Given the description of an element on the screen output the (x, y) to click on. 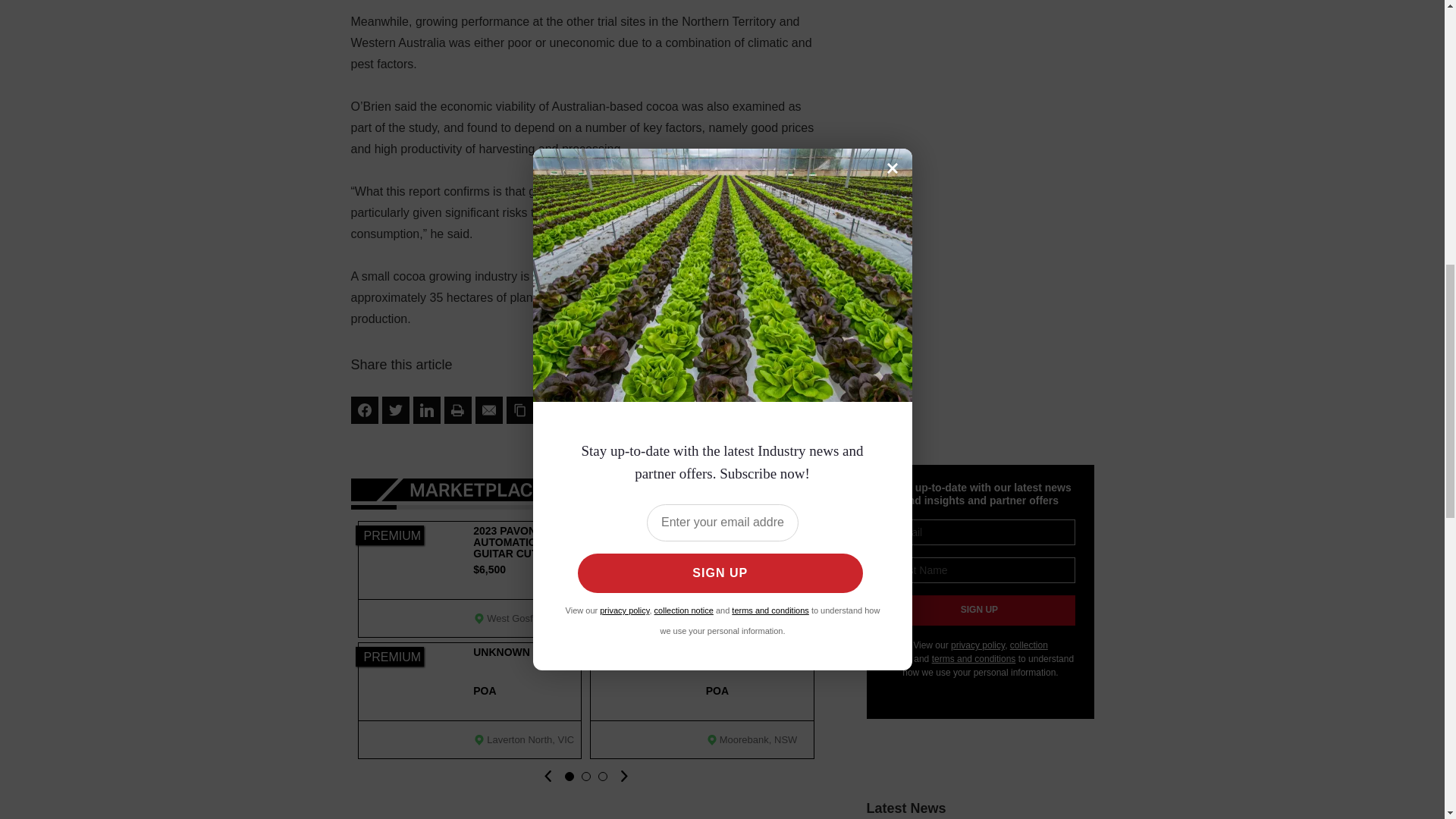
Share on LinkedIn (425, 410)
Share on Print (457, 410)
Share on Copy Link (520, 410)
3rd party ad content (979, 96)
Share on Twitter (395, 410)
Share on Email (488, 410)
Share on Facebook (363, 410)
